Given the description of an element on the screen output the (x, y) to click on. 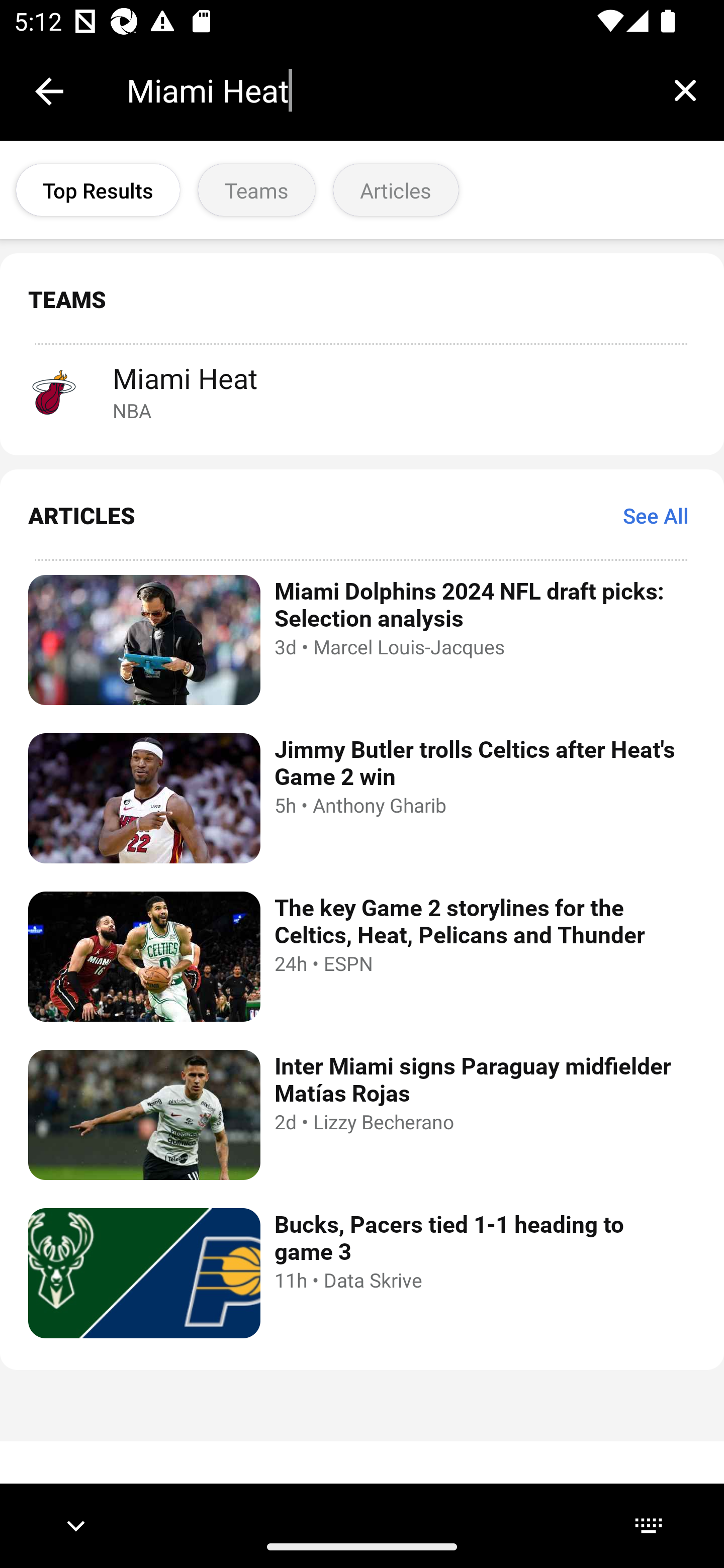
Collapse (49, 91)
Clear query (685, 89)
Miami Heat (386, 90)
Top Results (97, 190)
Teams (256, 190)
Articles (395, 190)
Miami Heat : NBA Miami Heat NBA (362, 390)
See All (655, 514)
